Given the description of an element on the screen output the (x, y) to click on. 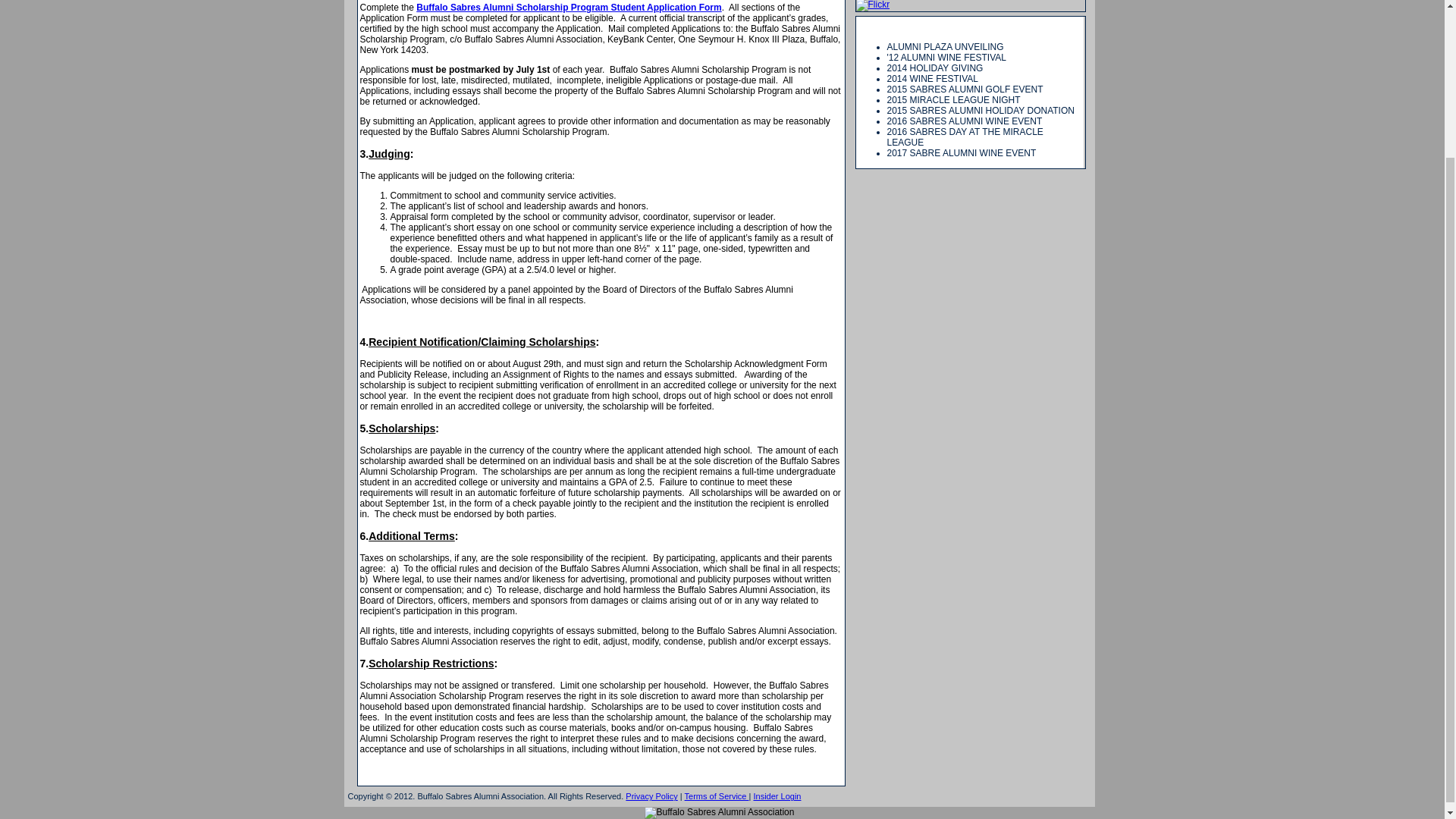
2015 SABRES ALUMNI HOLIDAY DONATION (980, 110)
2015 SABRES ALUMNI GOLF EVENT (964, 89)
2016 SABRES ALUMNI WINE EVENT (964, 121)
ALUMNI PLAZA UNVEILING (945, 46)
2016 SABRES DAY AT THE MIRACLE LEAGUE (964, 137)
2014 WINE FESTIVAL (932, 78)
2014 HOLIDAY GIVING (935, 68)
Privacy Policy (651, 795)
'12 ALUMNI WINE FESTIVAL (946, 57)
2015 MIRACLE LEAGUE NIGHT (953, 100)
2017 SABRE ALUMNI WINE EVENT (961, 153)
